Given the description of an element on the screen output the (x, y) to click on. 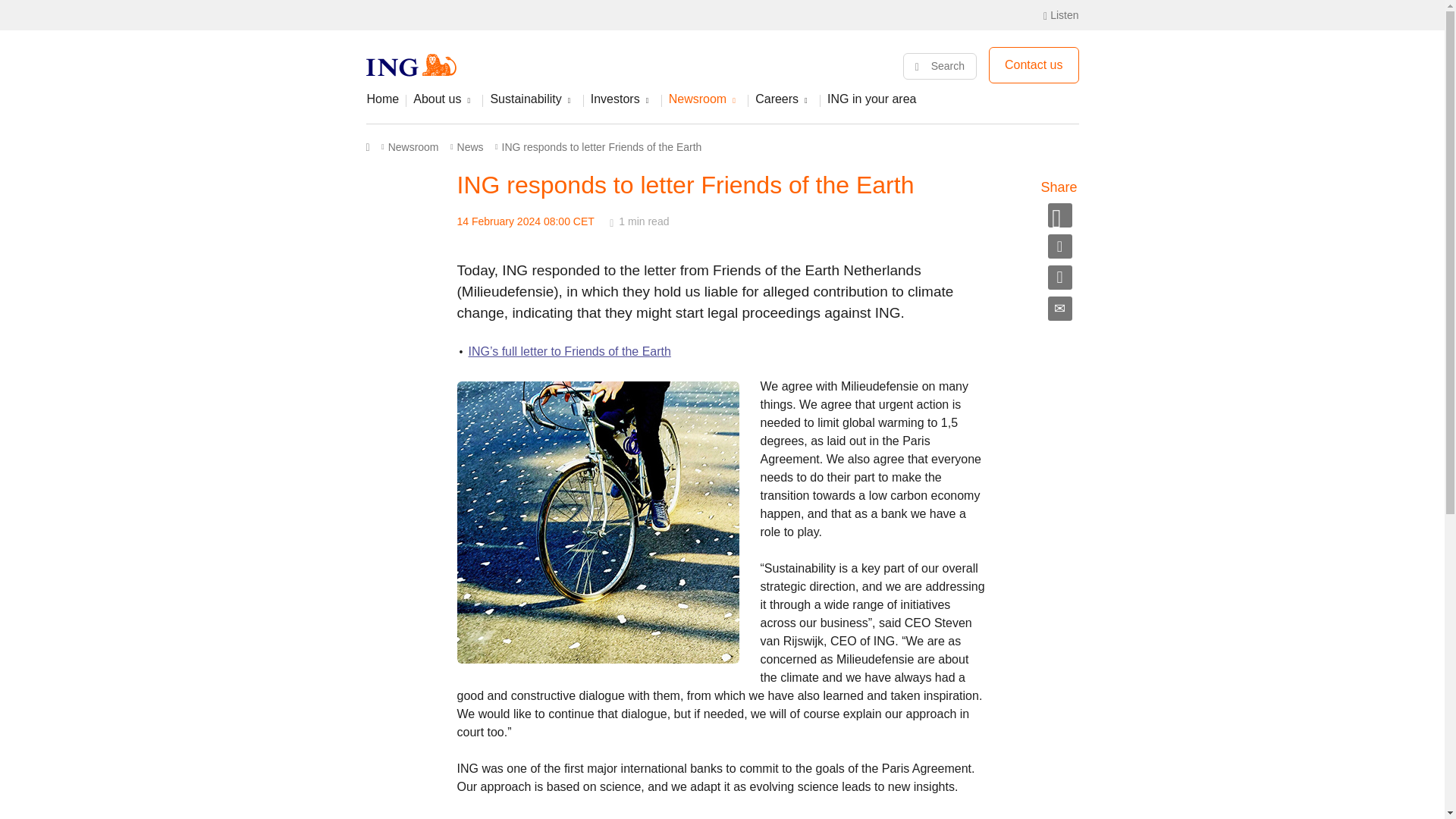
Do you have a question? Let us know! (1033, 64)
Listen (1060, 14)
Search (939, 66)
Home (385, 104)
Listen to this page using ReadSpeaker webReader (1060, 14)
About us (444, 104)
Search ING.com (939, 66)
Contact us (1033, 64)
